Given the description of an element on the screen output the (x, y) to click on. 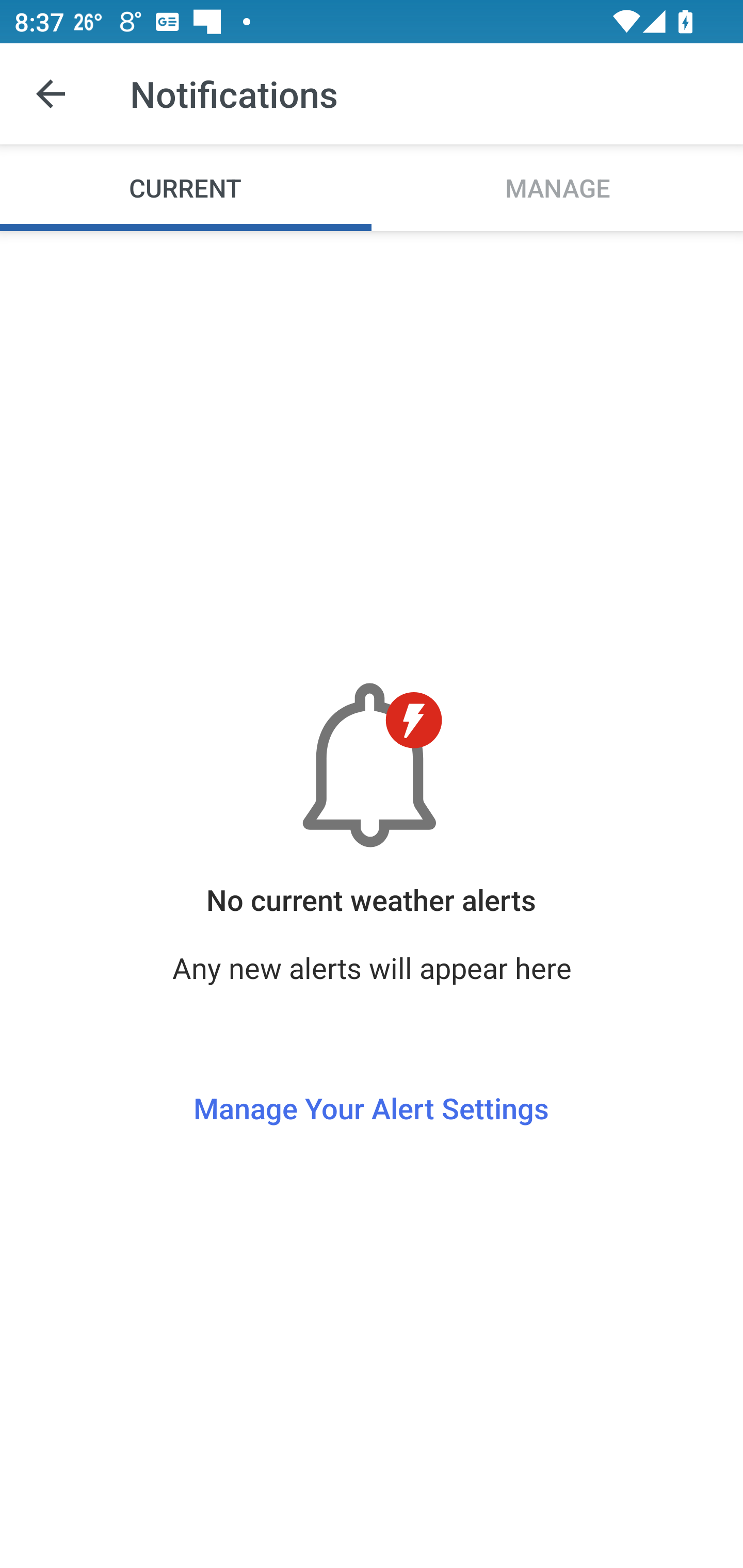
Navigate up (50, 93)
Manage Tab MANAGE (557, 187)
Manage Your Alert Settings (371, 1071)
